Given the description of an element on the screen output the (x, y) to click on. 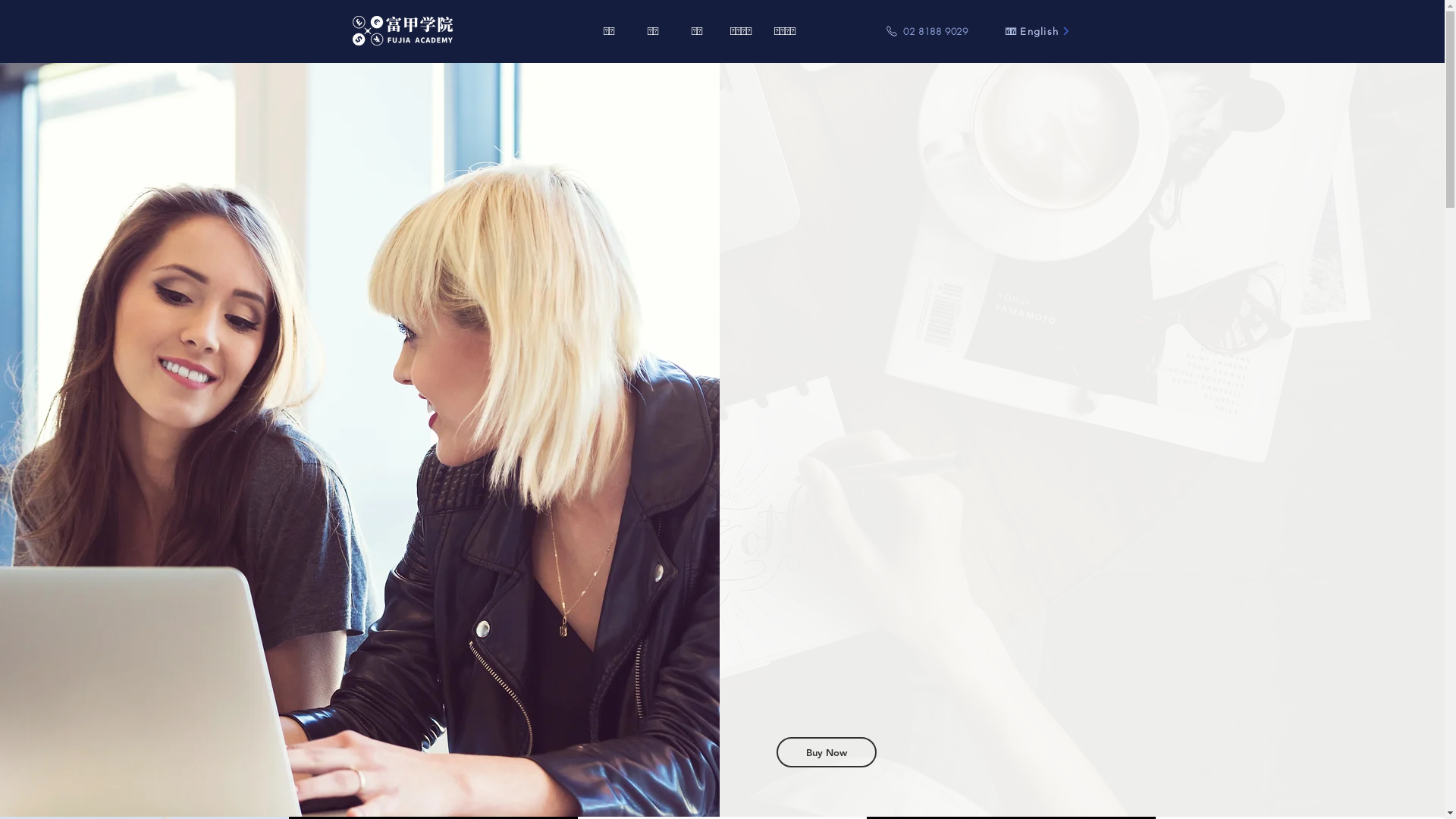
Buy Now Element type: text (826, 752)
02 8188 9029 Element type: text (926, 31)
1.png Element type: hover (402, 32)
